Given the description of an element on the screen output the (x, y) to click on. 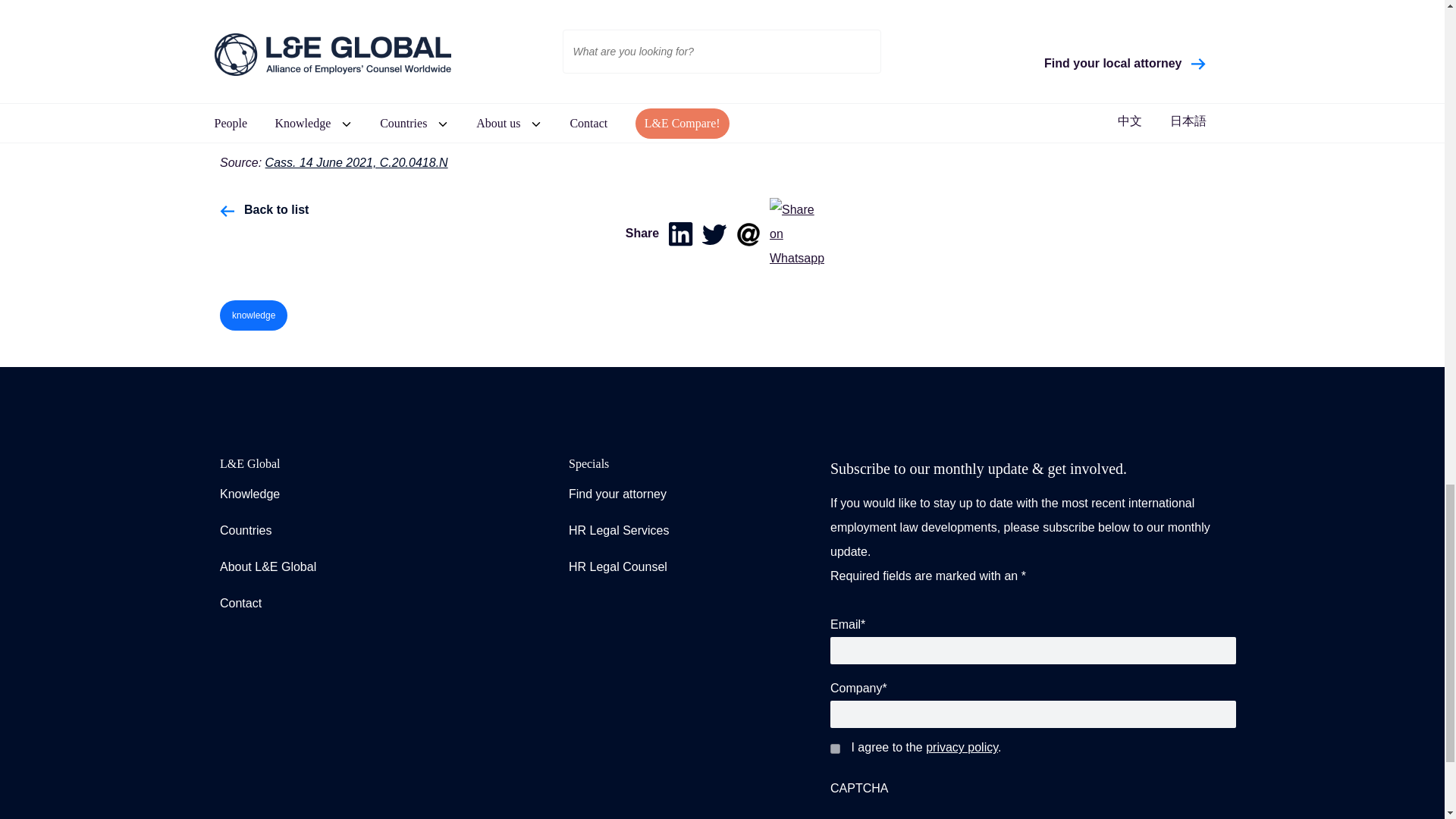
1 (834, 748)
